Given the description of an element on the screen output the (x, y) to click on. 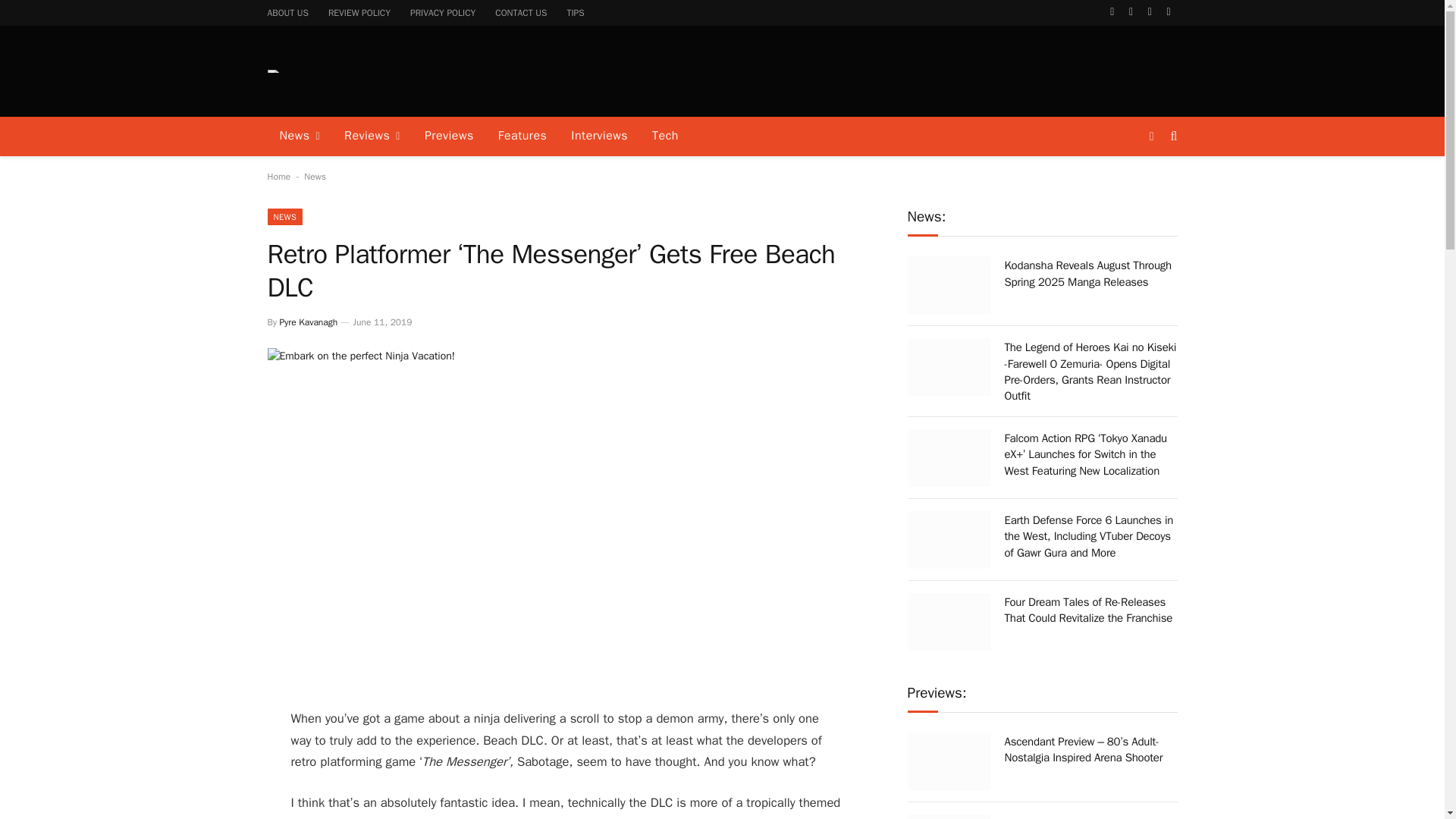
PRIVACY POLICY (442, 12)
Interviews (599, 136)
REVIEW POLICY (359, 12)
News (315, 176)
NEWS (284, 216)
ABOUT US (287, 12)
Switch to Dark Design - easier on eyes. (1151, 136)
Pyre Kavanagh (308, 322)
Posts by Pyre Kavanagh (308, 322)
Reviews (371, 136)
Home (277, 176)
Previews (449, 136)
Features (522, 136)
CONTACT US (520, 12)
Tech (665, 136)
